Given the description of an element on the screen output the (x, y) to click on. 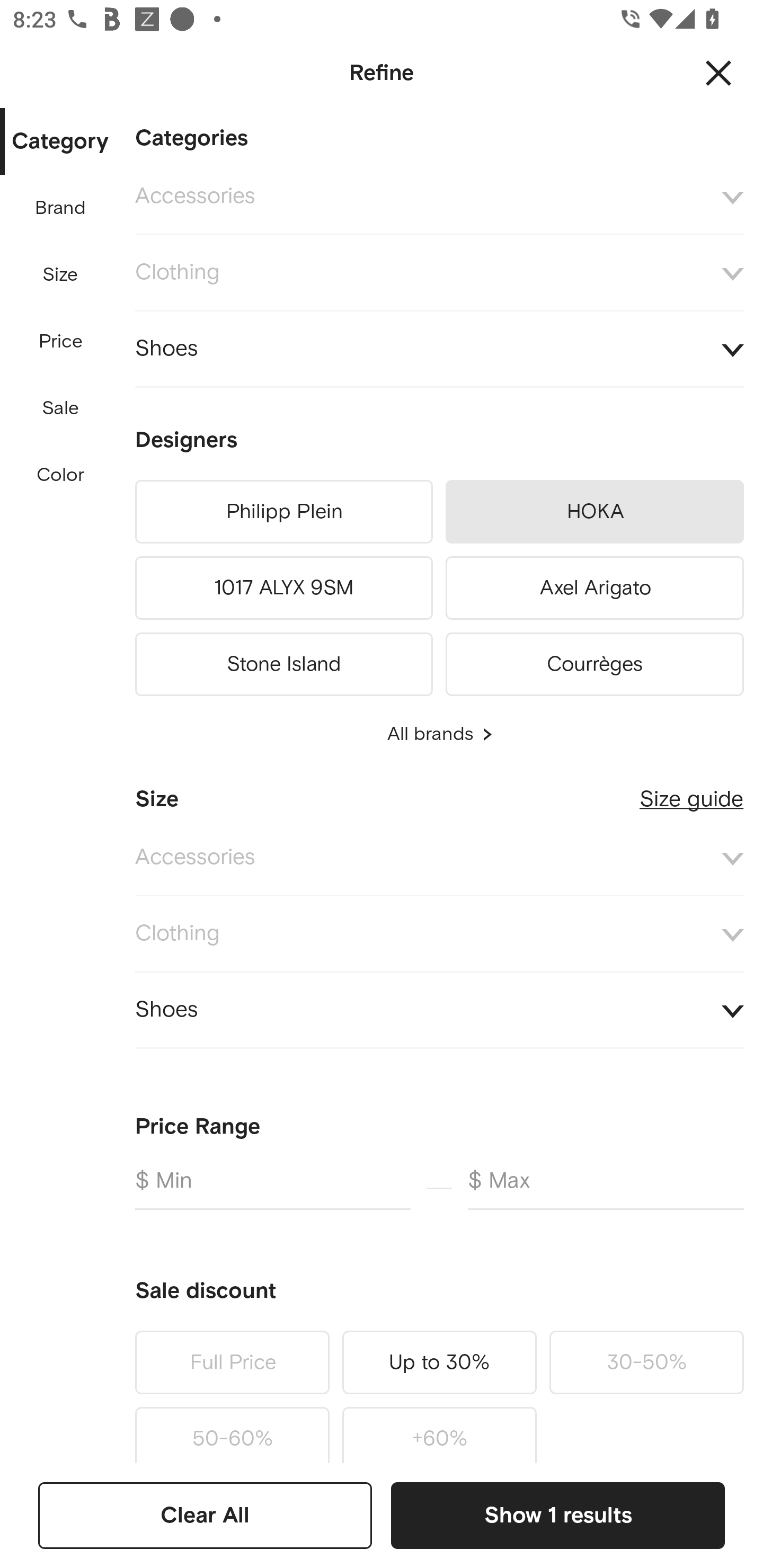
Category (60, 141)
Accessories (439, 196)
Brand (60, 208)
Clothing (439, 272)
Size (60, 274)
Price (60, 342)
Shoes (439, 348)
Sale (60, 408)
Color (60, 475)
Philipp Plein (283, 511)
HOKA (594, 511)
1017 ALYX 9SM (283, 587)
Axel Arigato (594, 587)
Stone Island (283, 660)
Courrèges (594, 660)
All brands (439, 734)
Size guide (691, 792)
Accessories (439, 857)
Clothing (439, 933)
Shoes (439, 1010)
$ Min (272, 1187)
$ Max (605, 1187)
Full Price (232, 1362)
Up to 30% (439, 1362)
30-50% (646, 1362)
50-60% (232, 1431)
+60% (439, 1431)
Clear All (205, 1515)
Show 1 results (557, 1515)
